Given the description of an element on the screen output the (x, y) to click on. 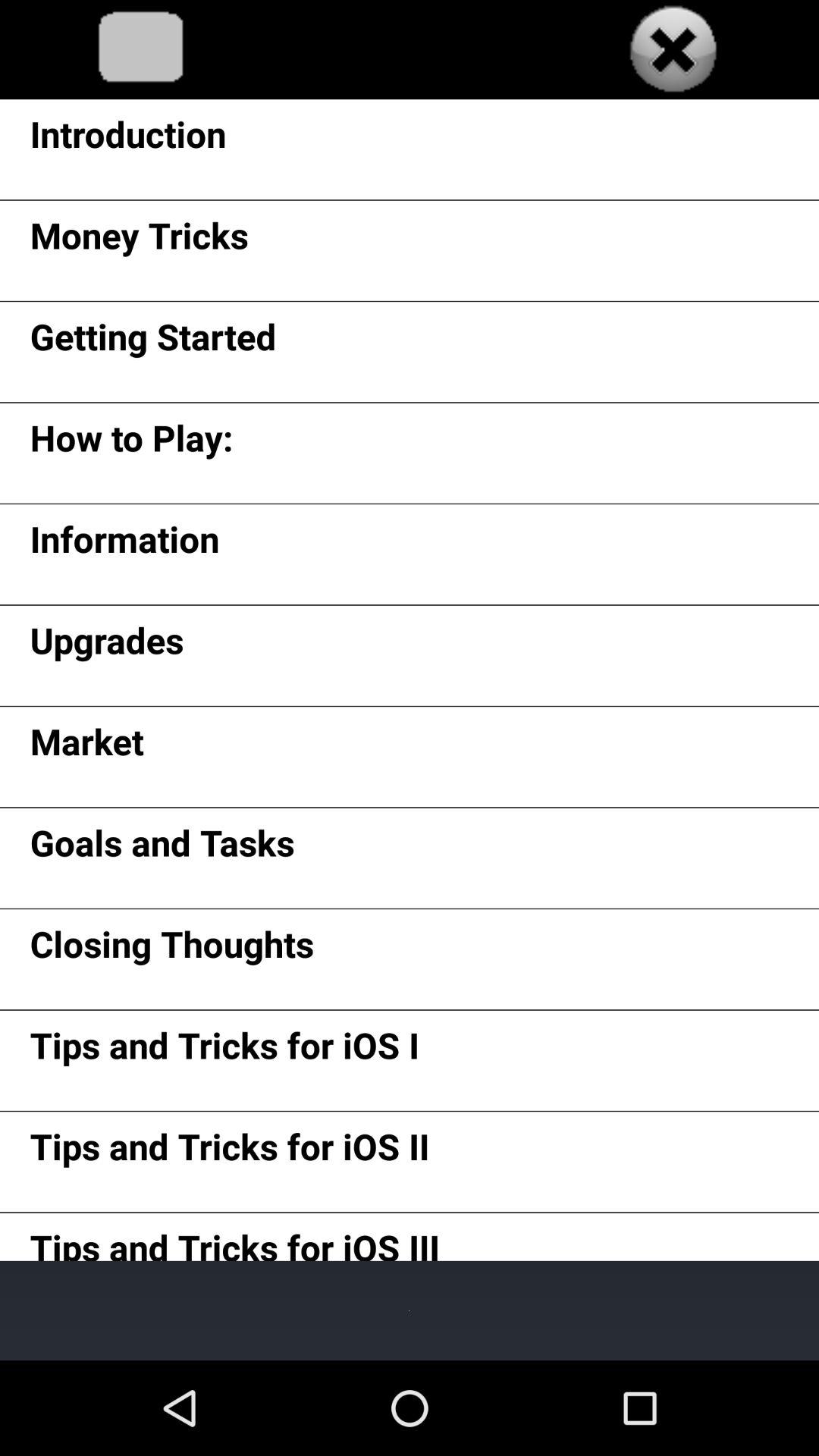
jump until getting started item (153, 341)
